Given the description of an element on the screen output the (x, y) to click on. 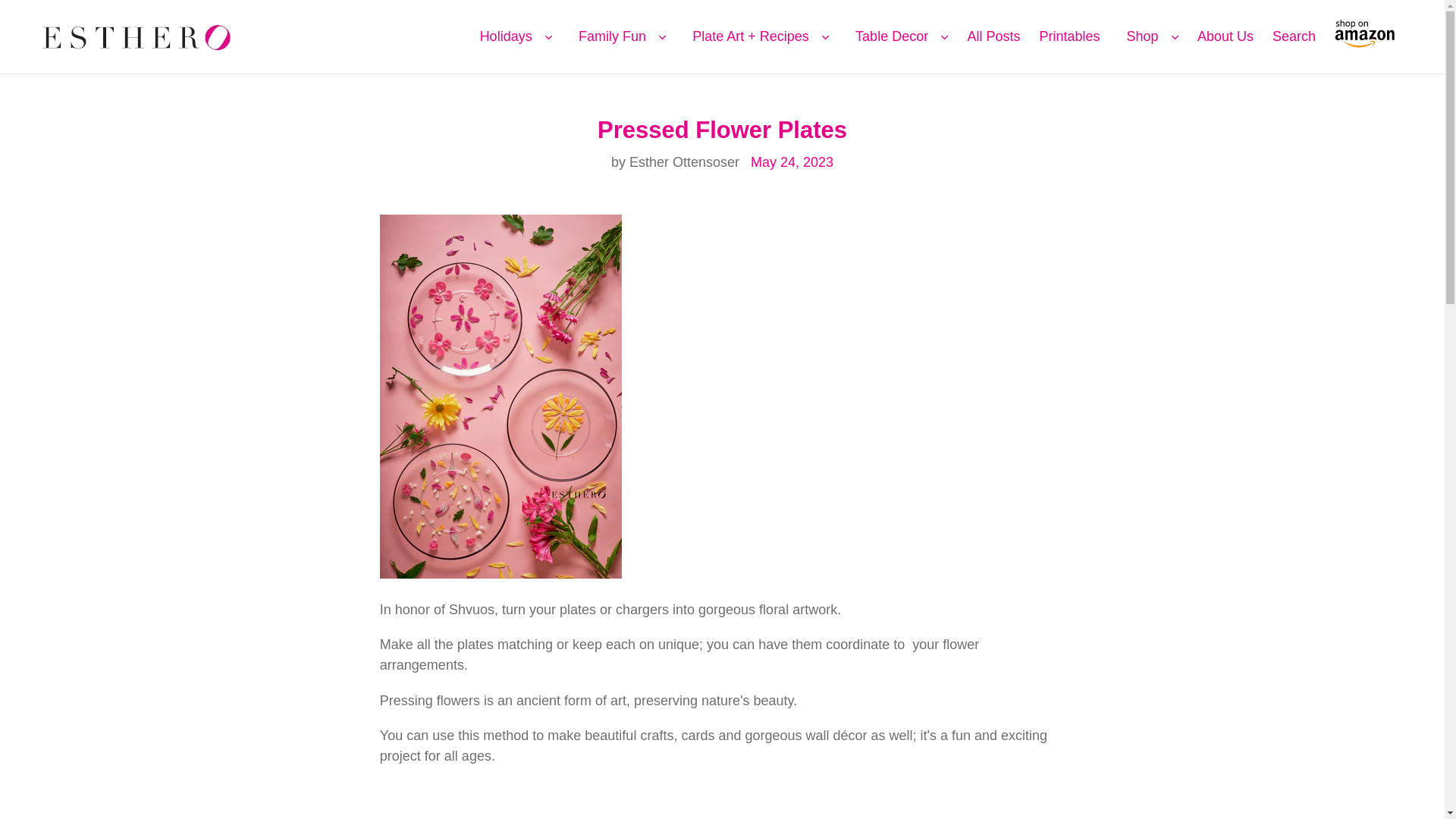
Holidays (505, 35)
Table Decor (893, 35)
Family Fun (611, 35)
